Given the description of an element on the screen output the (x, y) to click on. 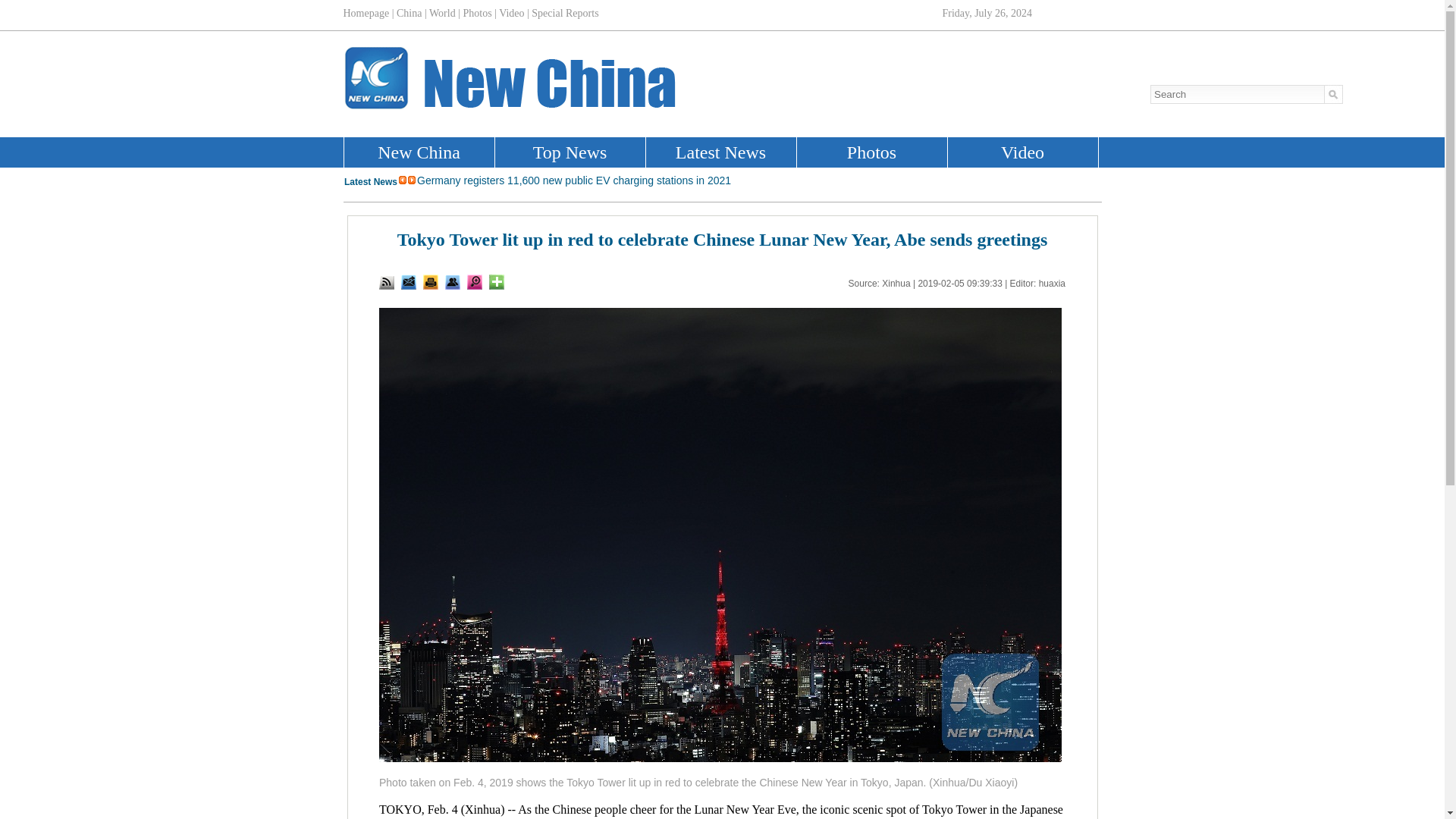
RSS (386, 281)
Print (430, 281)
Large image (474, 281)
Copy URL (452, 281)
Feedback (408, 281)
More (496, 281)
